Given the description of an element on the screen output the (x, y) to click on. 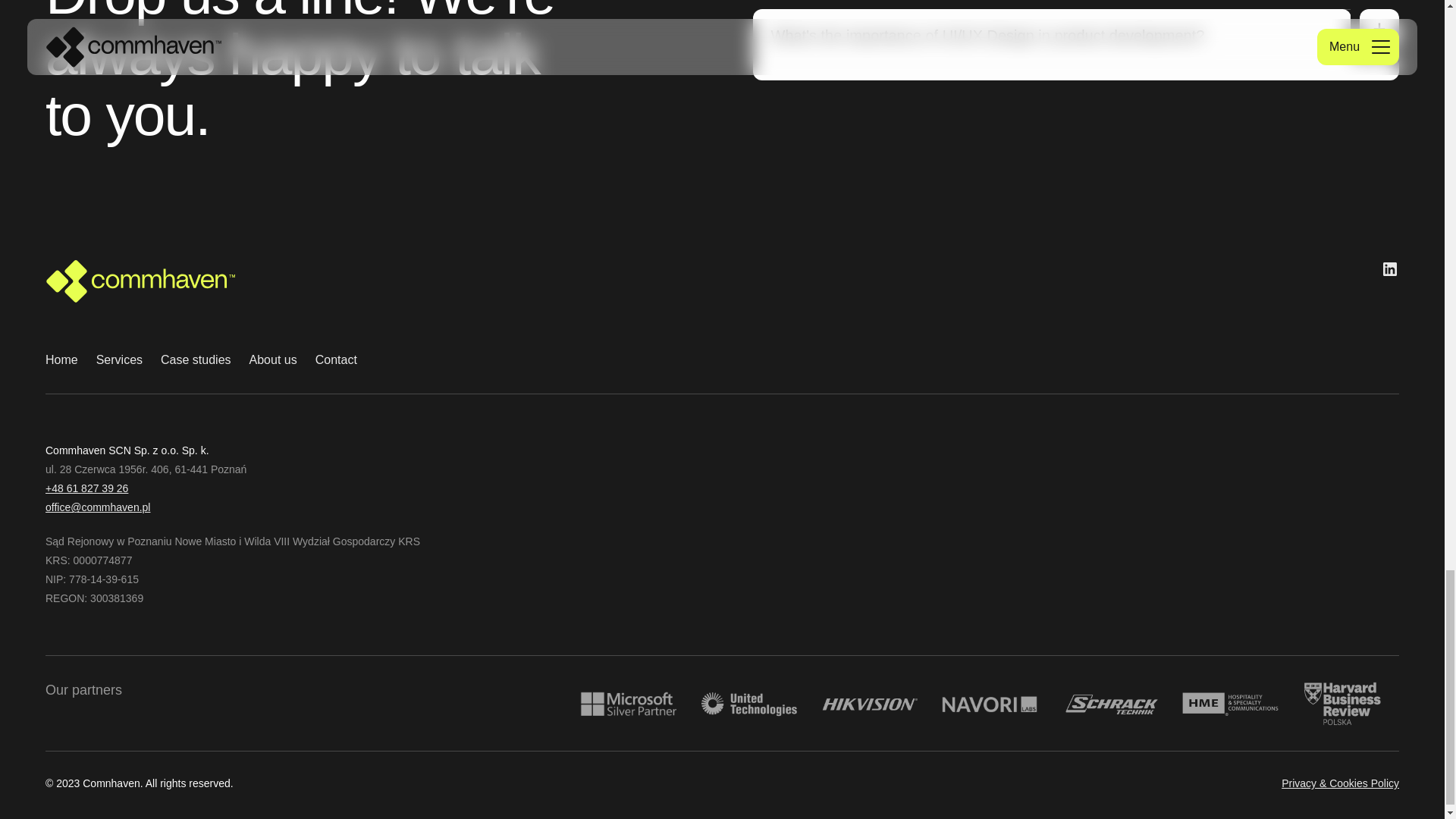
Services (119, 360)
Contact (335, 360)
Home (61, 360)
About us (272, 360)
Case studies (195, 360)
